Given the description of an element on the screen output the (x, y) to click on. 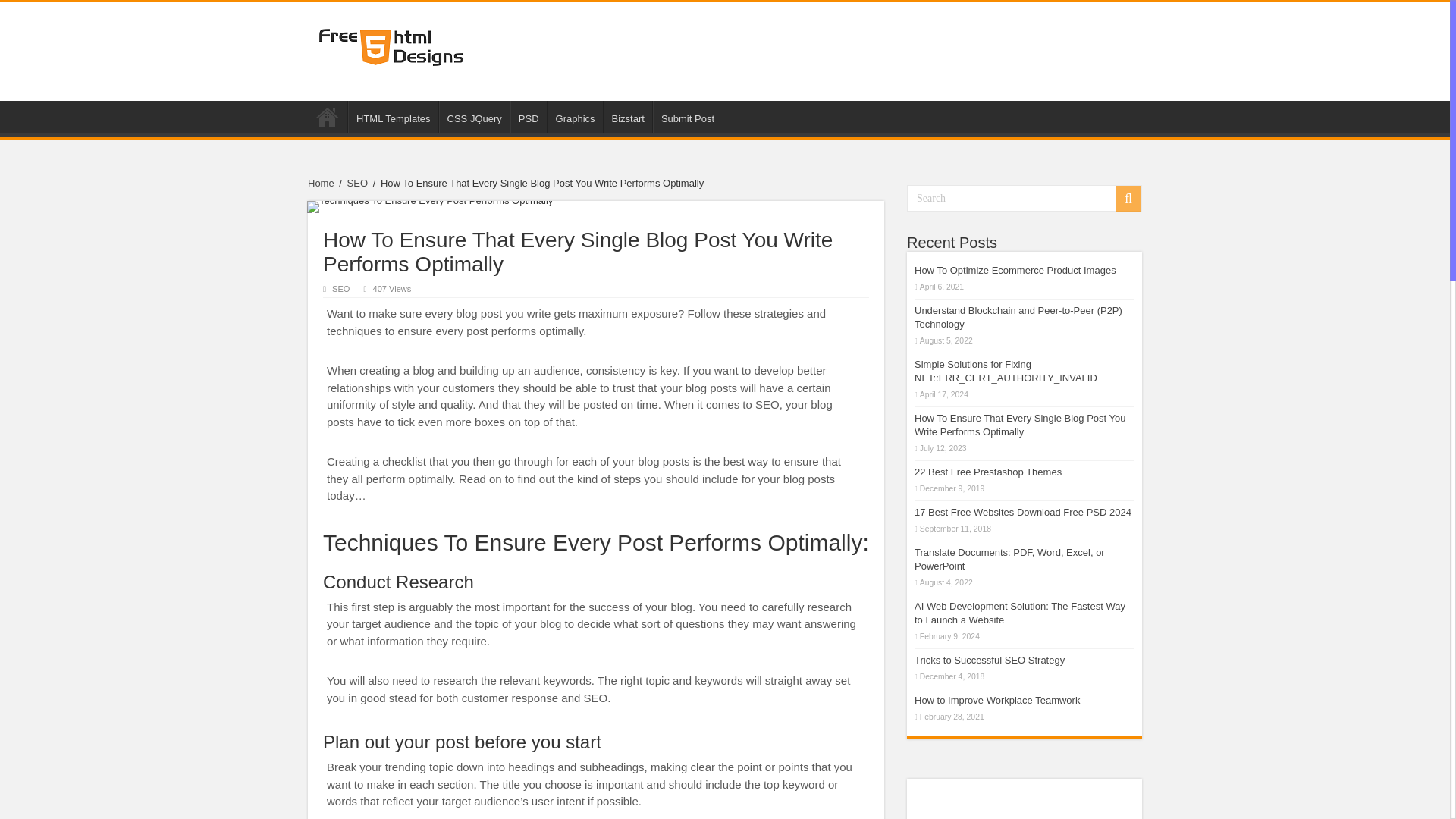
Home (320, 183)
Search (1024, 198)
Graphics (574, 116)
Submit Post (687, 116)
free html design (390, 46)
SEO (357, 183)
PSD (529, 116)
Home (327, 116)
SEO (340, 288)
Bizstart (628, 116)
